Given the description of an element on the screen output the (x, y) to click on. 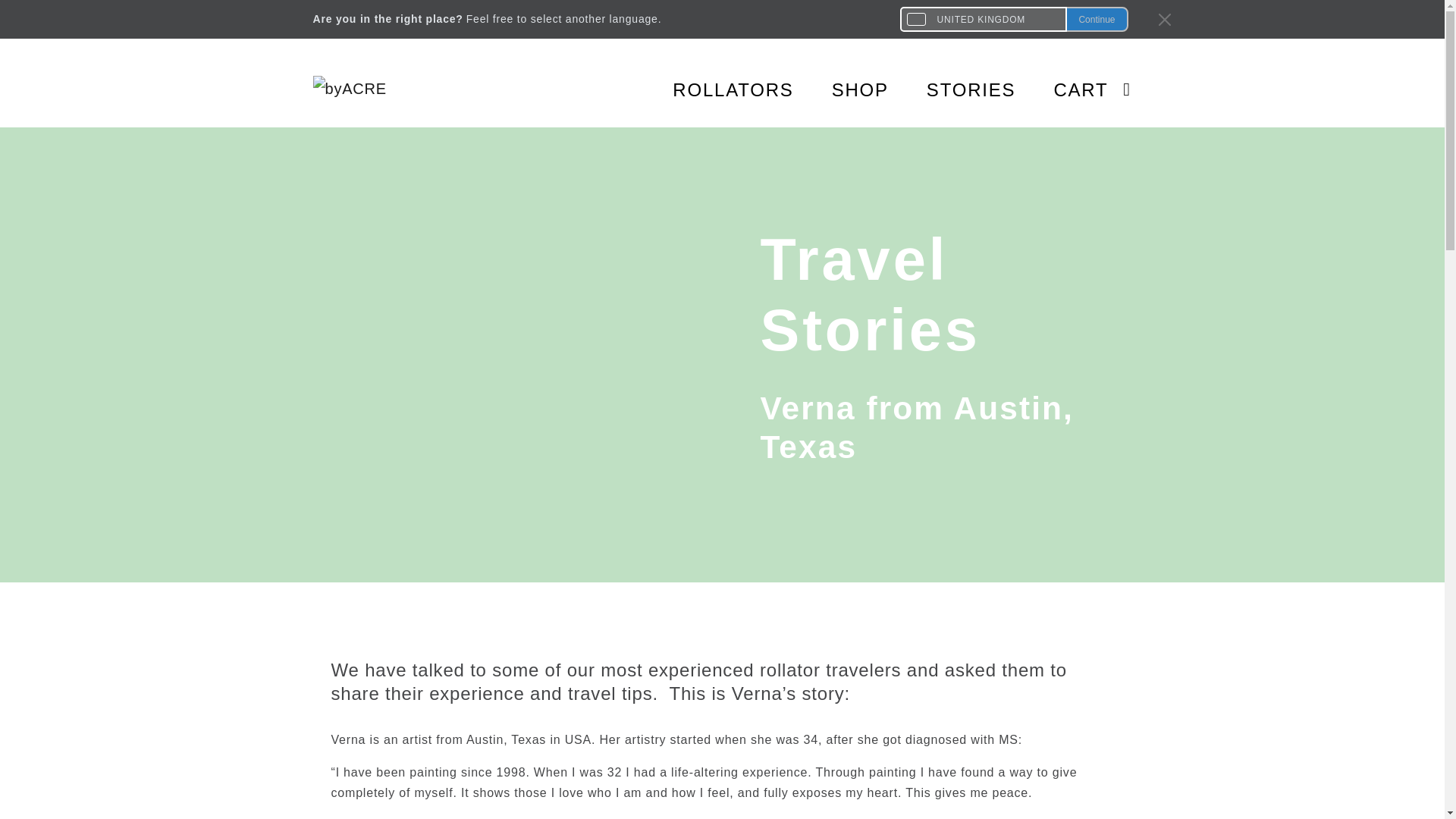
CART (1076, 89)
SHOP (840, 89)
Shop (840, 89)
byACRE (366, 90)
ROLLATORS (713, 89)
Stories (952, 89)
Continue (1095, 18)
Rollators (713, 89)
STORIES (952, 89)
Cart (1076, 89)
